Given the description of an element on the screen output the (x, y) to click on. 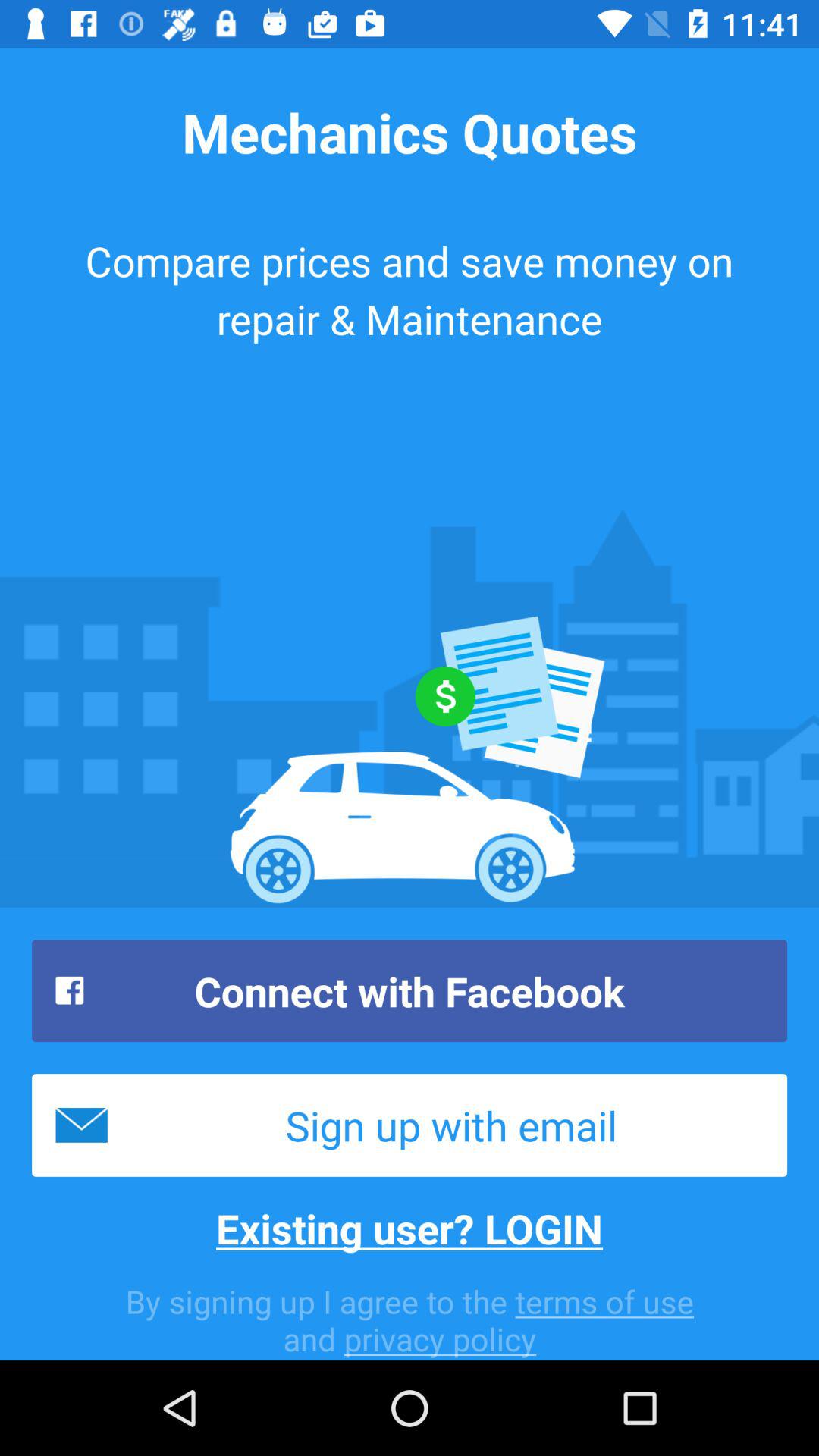
turn on icon above by signing up (409, 1227)
